Given the description of an element on the screen output the (x, y) to click on. 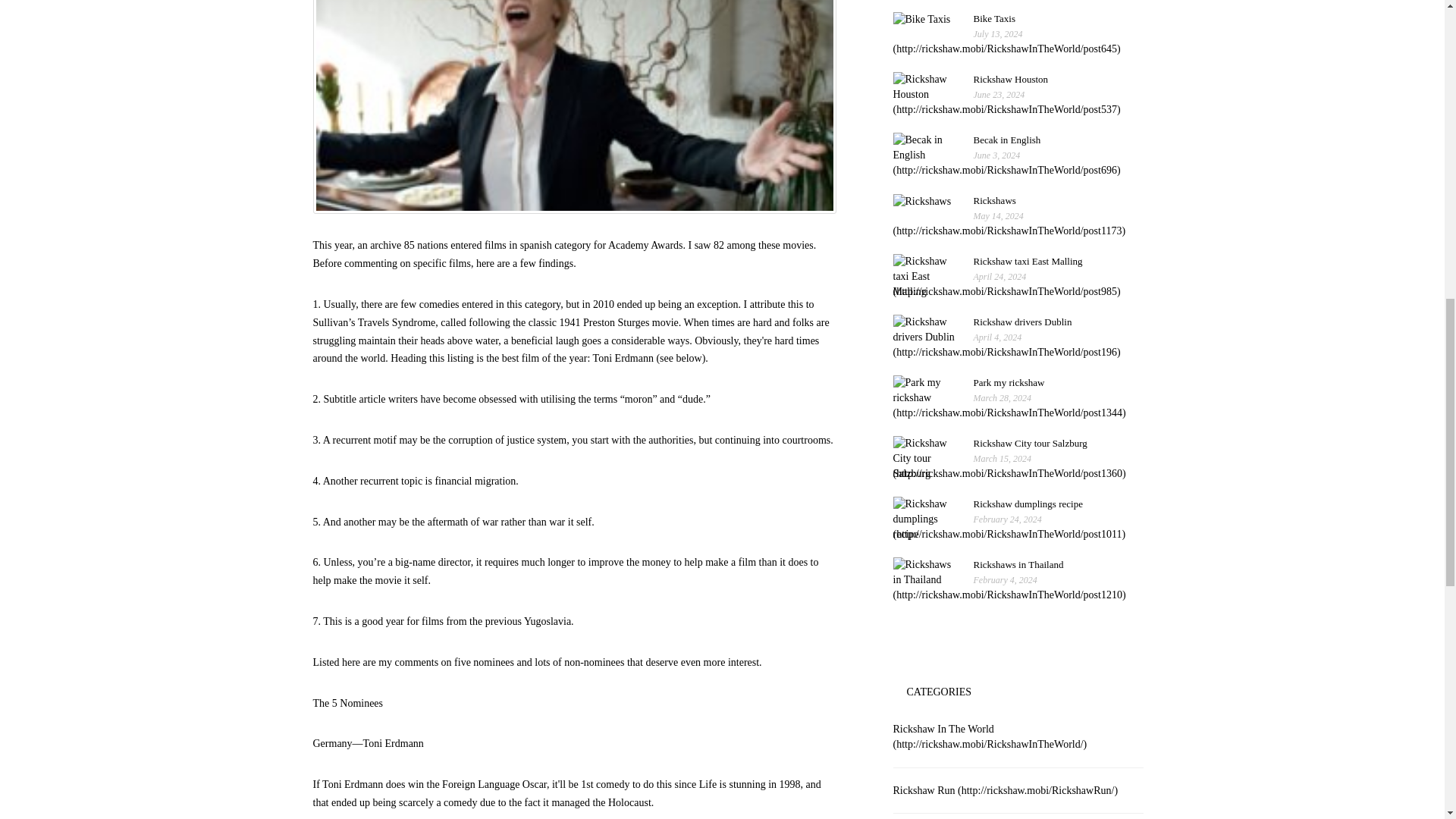
Rickshaw In The World (990, 736)
View all posts filed under Rickshaw In The World (1007, 101)
View all posts filed under Rickshaw Run (990, 736)
Rickshaw Run (1005, 789)
